Given the description of an element on the screen output the (x, y) to click on. 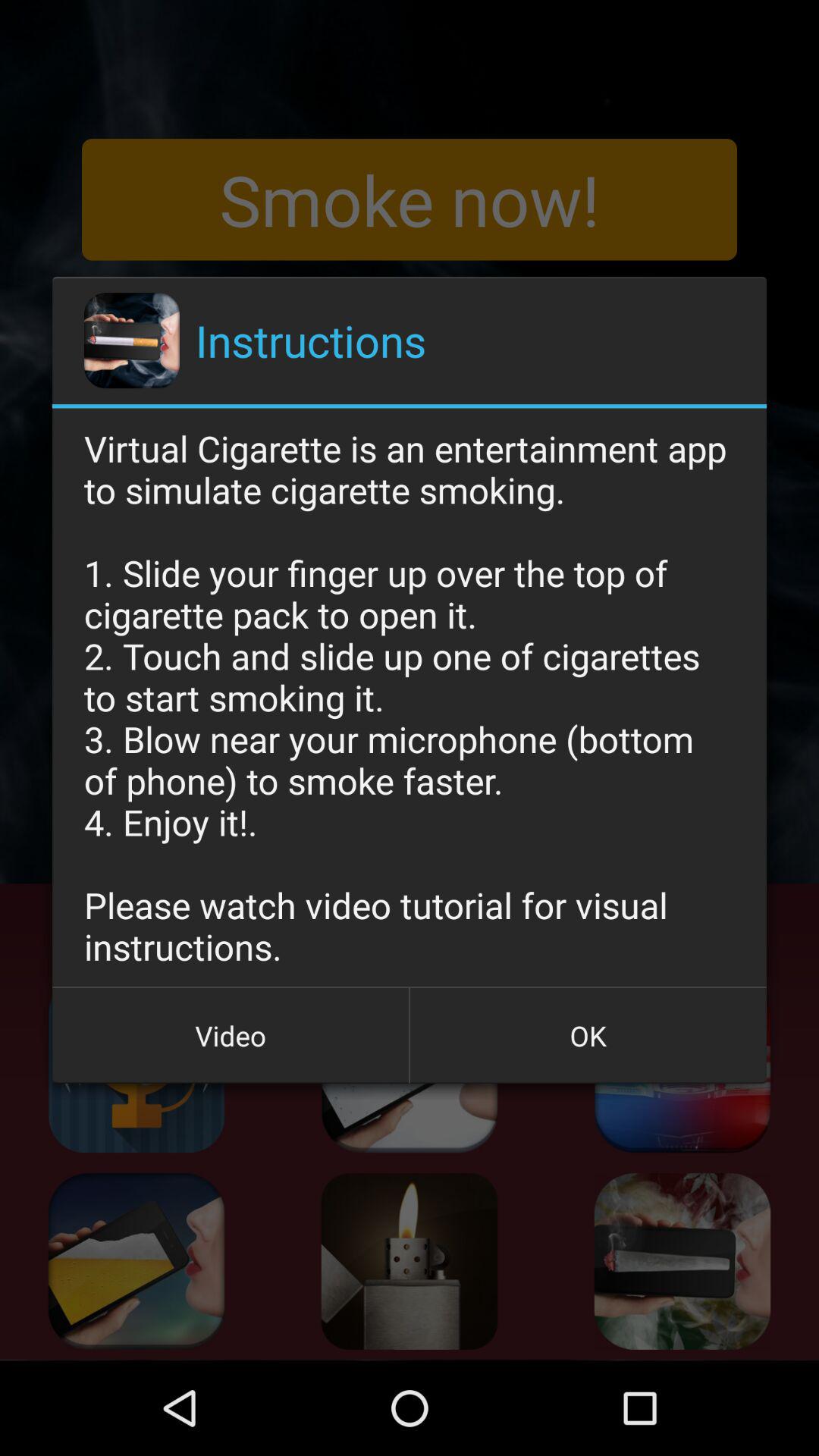
swipe until the ok icon (588, 1035)
